Given the description of an element on the screen output the (x, y) to click on. 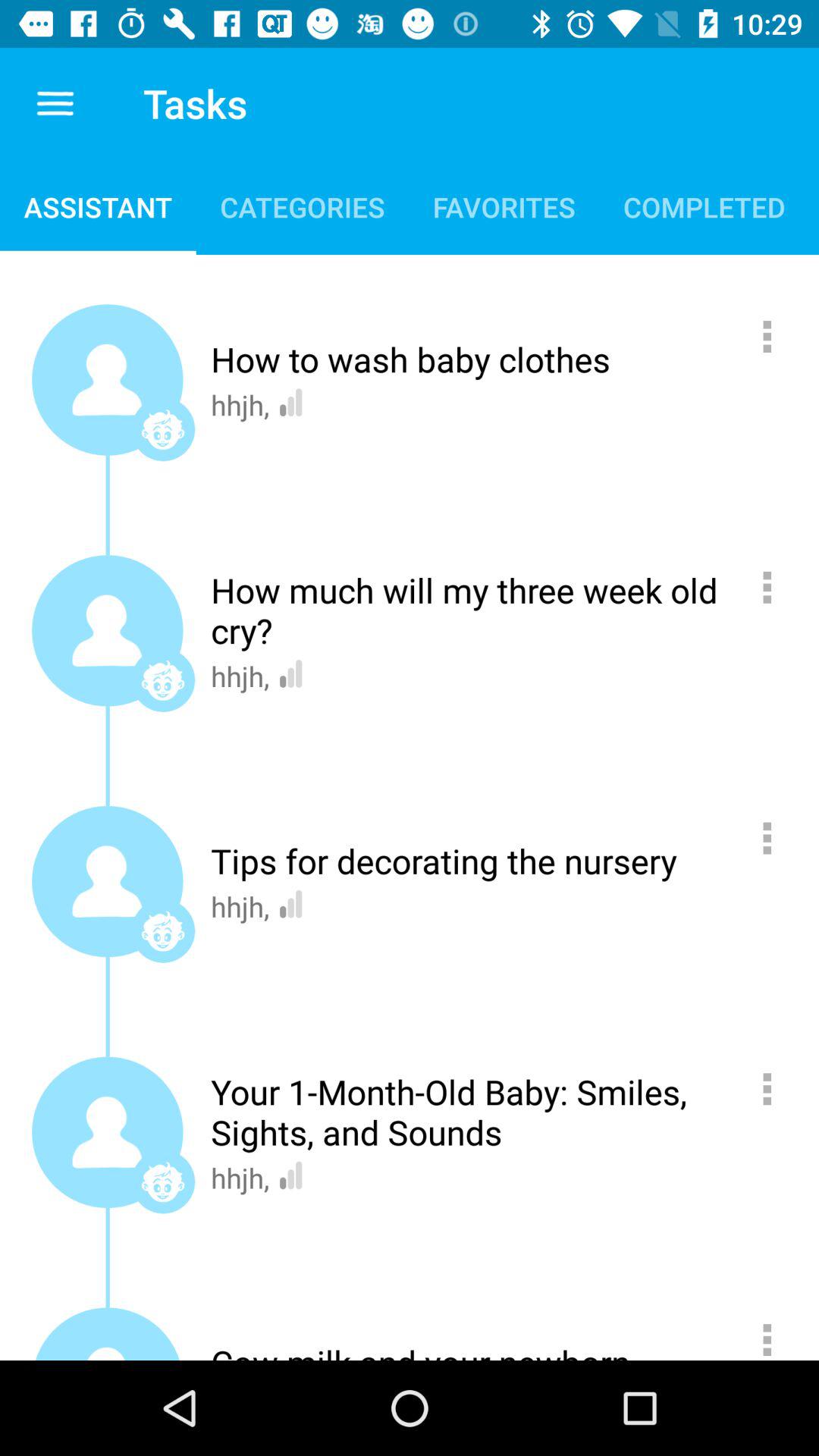
press for options (775, 838)
